Given the description of an element on the screen output the (x, y) to click on. 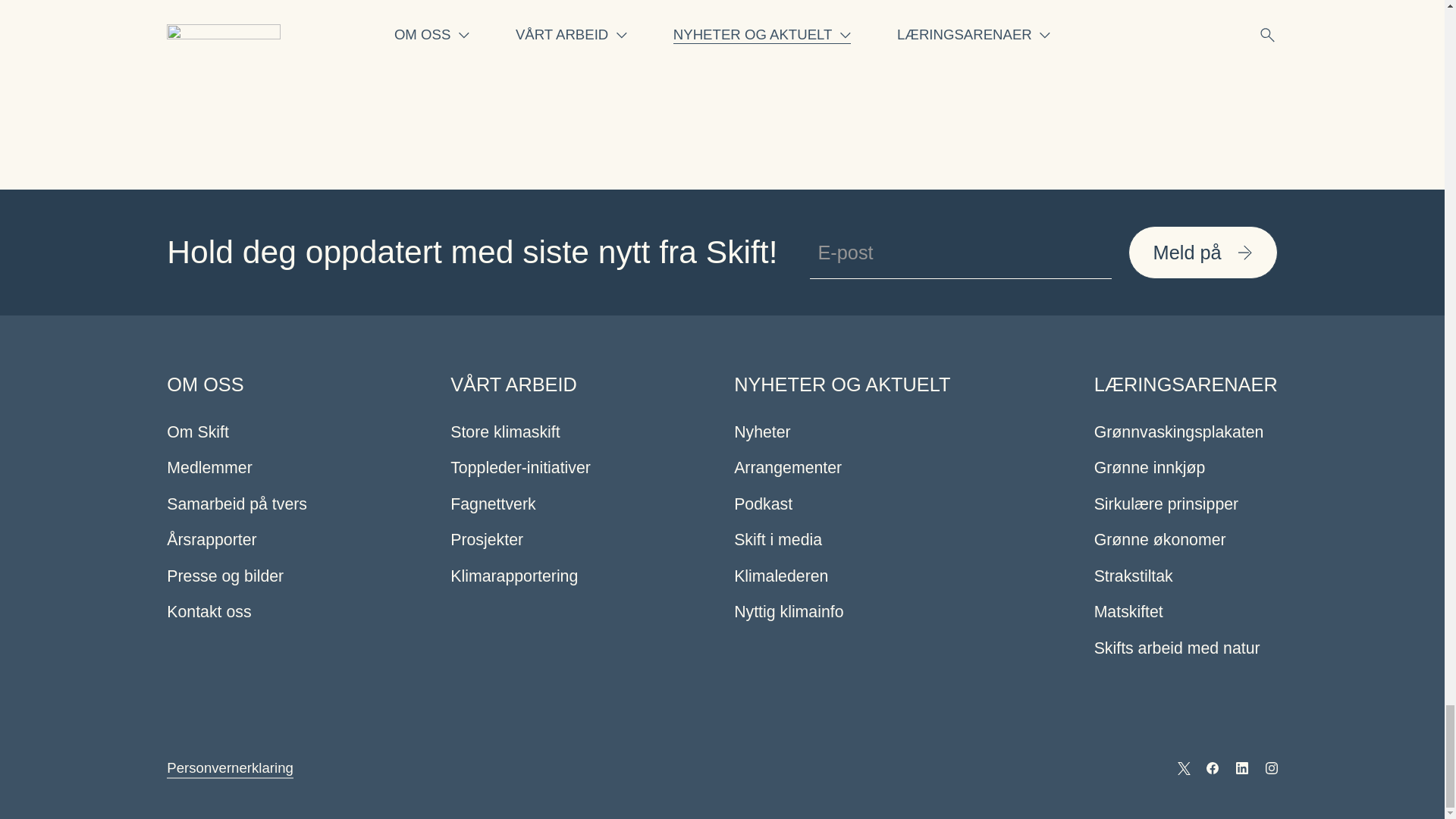
Store klimaskift (504, 432)
Fagnettverk (492, 504)
Medlemmer (209, 468)
Kontakt oss (208, 612)
Om Skift (197, 432)
Klimarapportering (513, 576)
Arrangementer (787, 468)
Toppleder-initiativer (520, 468)
Nyheter (761, 432)
Presse og bilder (225, 576)
Presse og bilder (225, 576)
Podkast (762, 504)
Fagnettverk (492, 504)
Nyheter og aktuelt (841, 384)
Medlemmer (209, 468)
